Given the description of an element on the screen output the (x, y) to click on. 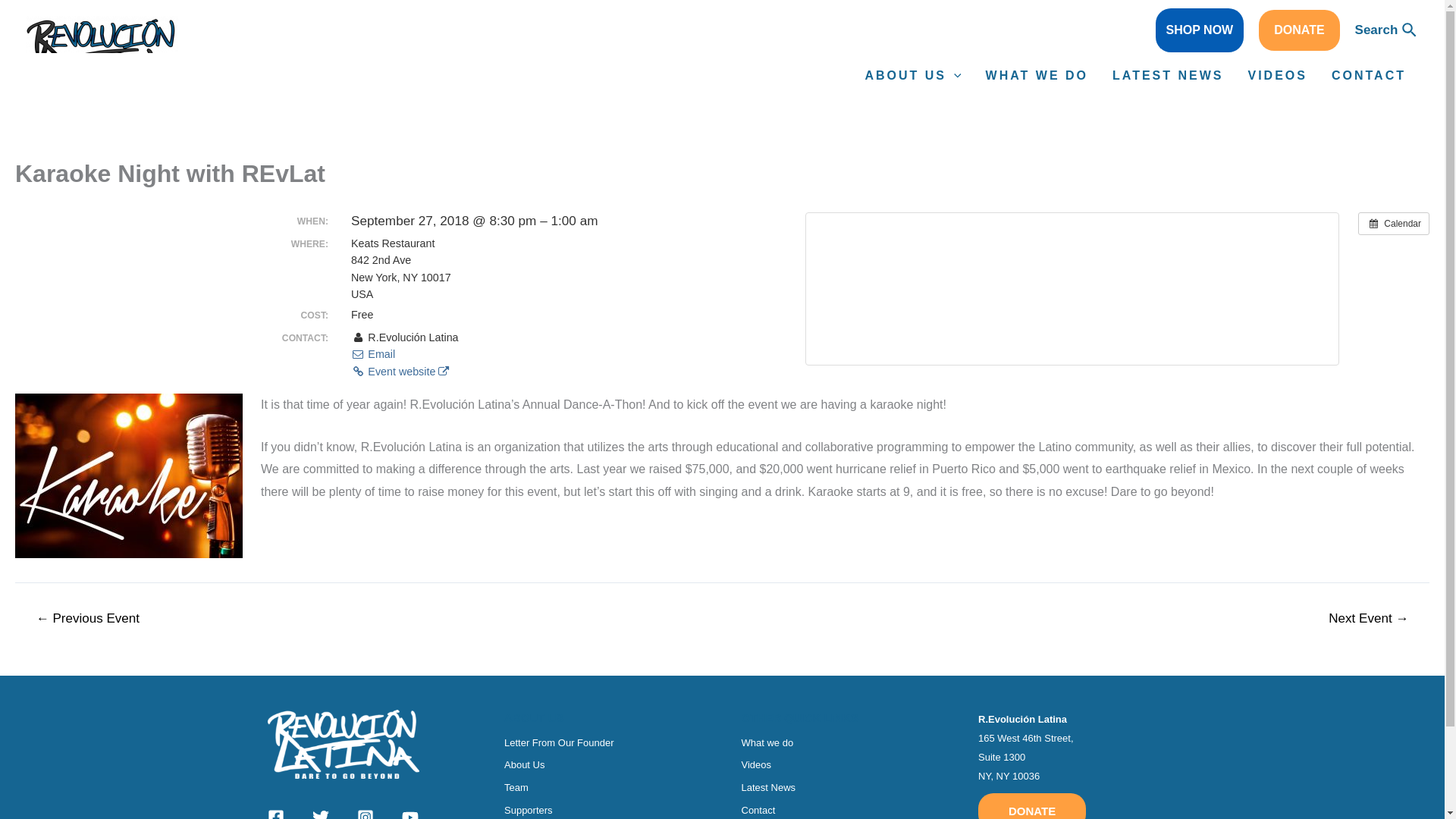
WHAT WE DO (1037, 75)
ABOUT US (911, 75)
Calendar (1393, 223)
VIDEOS (1277, 75)
DONATE (1299, 29)
LATEST NEWS (1167, 75)
SHOP NOW (1200, 30)
Event website (399, 371)
Email (372, 354)
View all events (1393, 223)
